Given the description of an element on the screen output the (x, y) to click on. 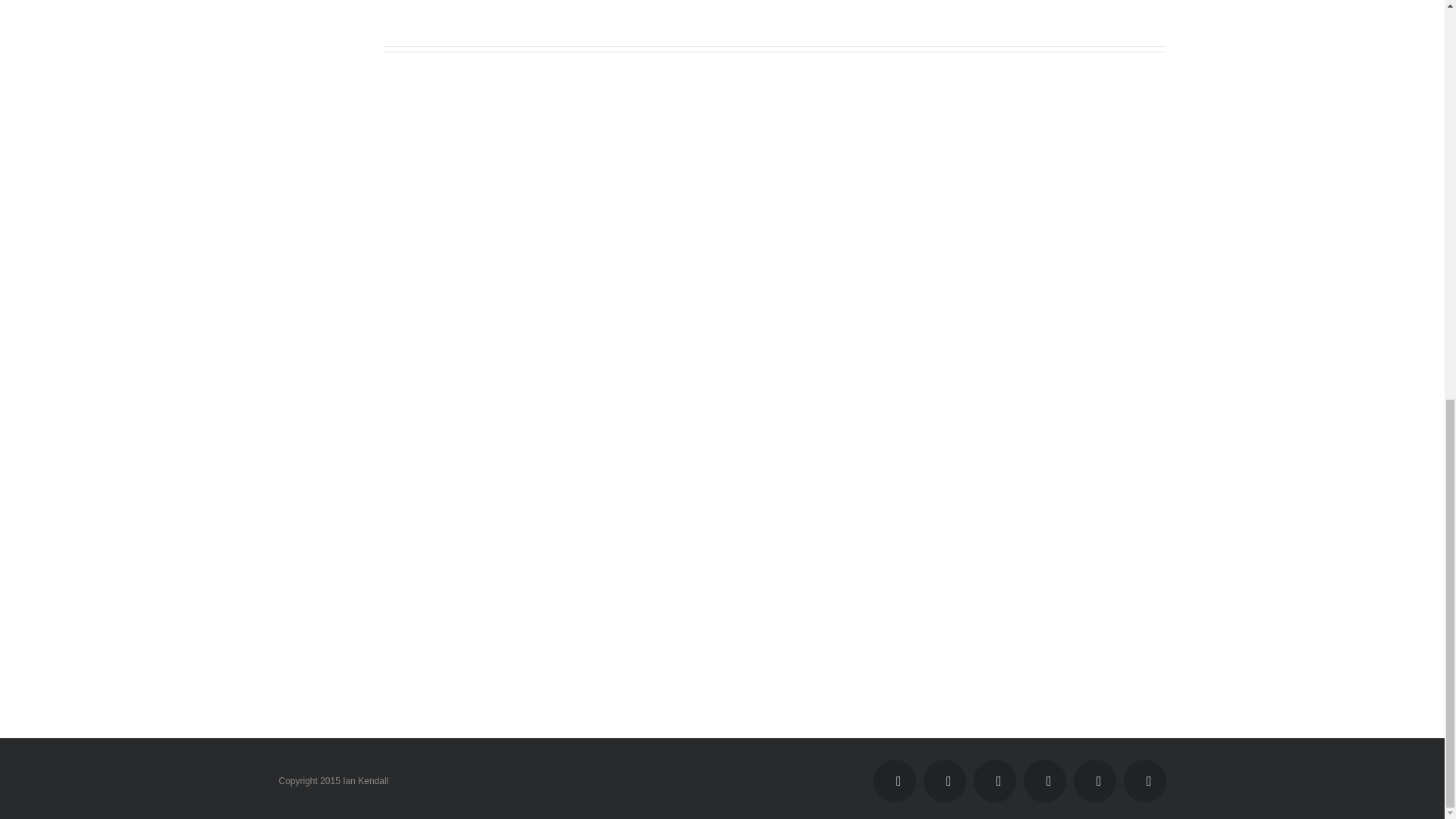
Instagram (1044, 781)
Twitter (995, 781)
Twitter (995, 781)
Facebook (894, 781)
Dribbble (1145, 781)
Dribbble (1145, 781)
Pinterest (1095, 781)
Facebook (894, 781)
Rss (944, 781)
Rss (944, 781)
Instagram (1044, 781)
Pinterest (1095, 781)
